Given the description of an element on the screen output the (x, y) to click on. 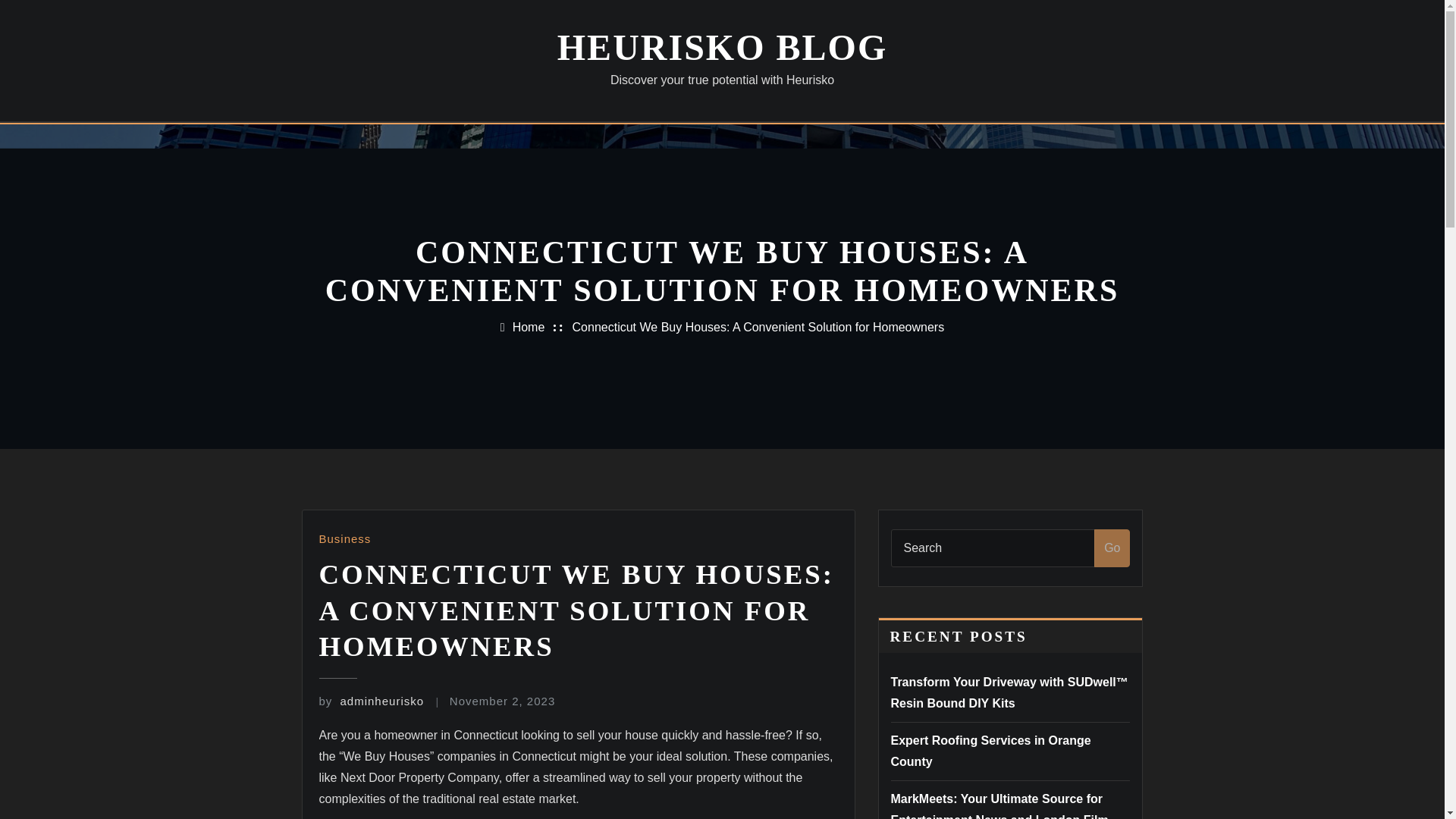
Go (1111, 548)
November 2, 2023 (501, 700)
Expert Roofing Services in Orange County (989, 750)
Home (528, 327)
Business (344, 538)
HEURISKO BLOG (721, 47)
by adminheurisko (370, 700)
